Given the description of an element on the screen output the (x, y) to click on. 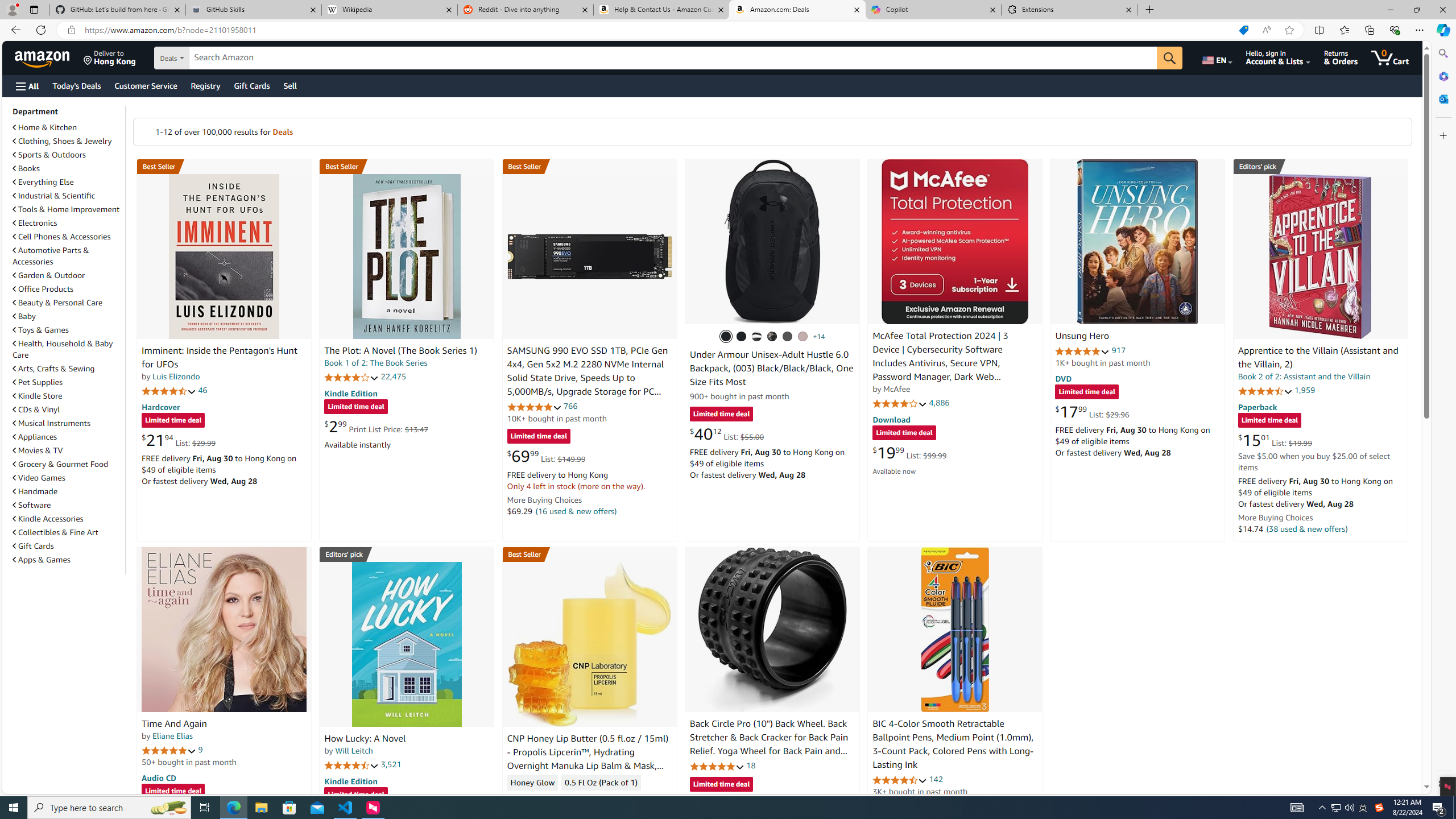
Tools & Home Improvement (66, 208)
Kindle Edition (350, 780)
Download (891, 419)
Office Products (67, 288)
Add this page to favorites (Ctrl+D) (1289, 29)
5.0 out of 5 stars (168, 750)
Hello, sign in Account & Lists (1278, 57)
Search in (210, 58)
Time And Again (224, 628)
Apprentice to the Villain (Assistant and the Villain, 2) (1319, 256)
4.8 out of 5 stars (716, 766)
Books (26, 167)
